Given the description of an element on the screen output the (x, y) to click on. 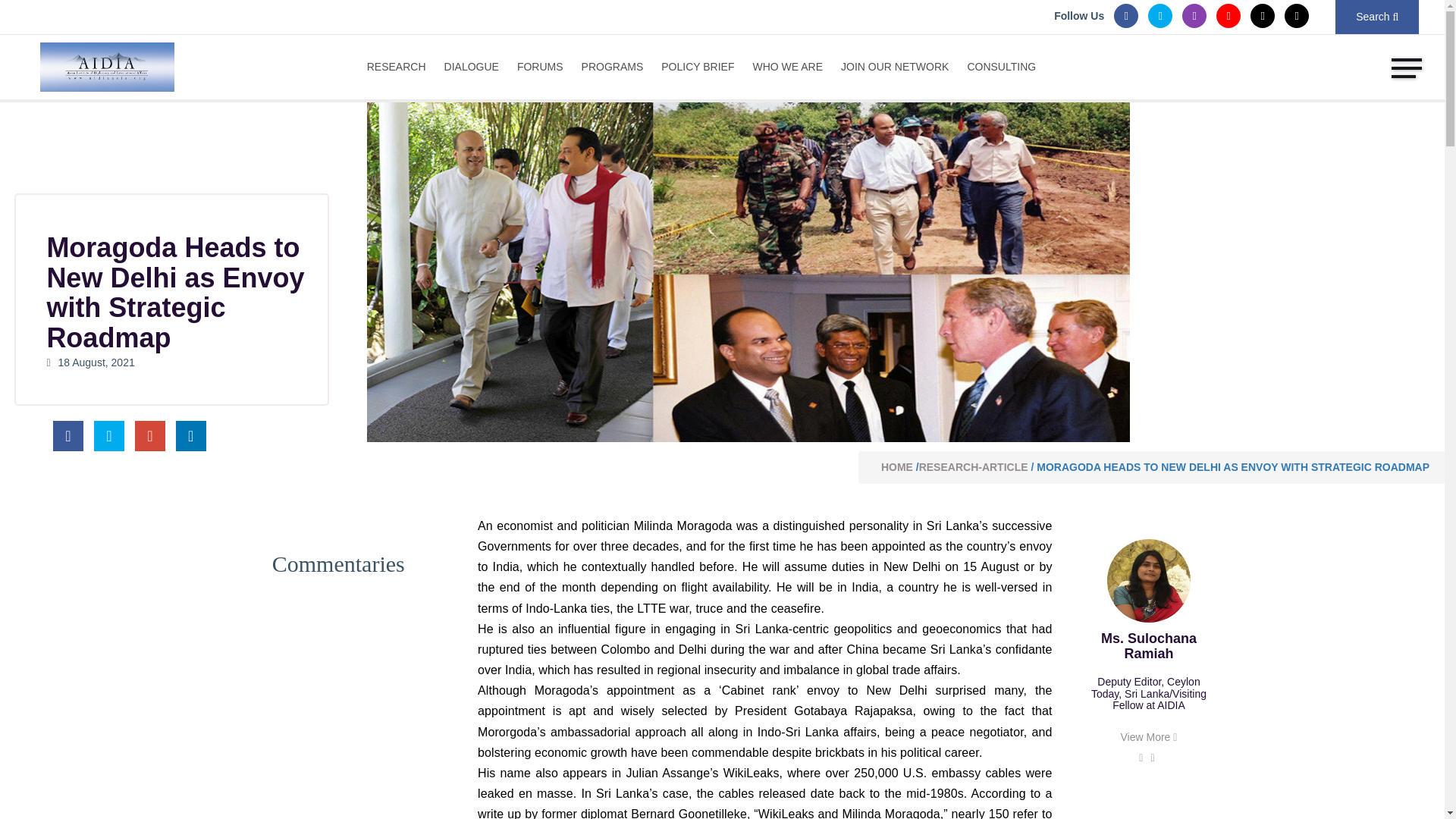
DIALOGUE (471, 65)
FORUMS (540, 65)
Ms. Sulochana Ramiah  (1148, 580)
RESEARCH (400, 65)
